Given the description of an element on the screen output the (x, y) to click on. 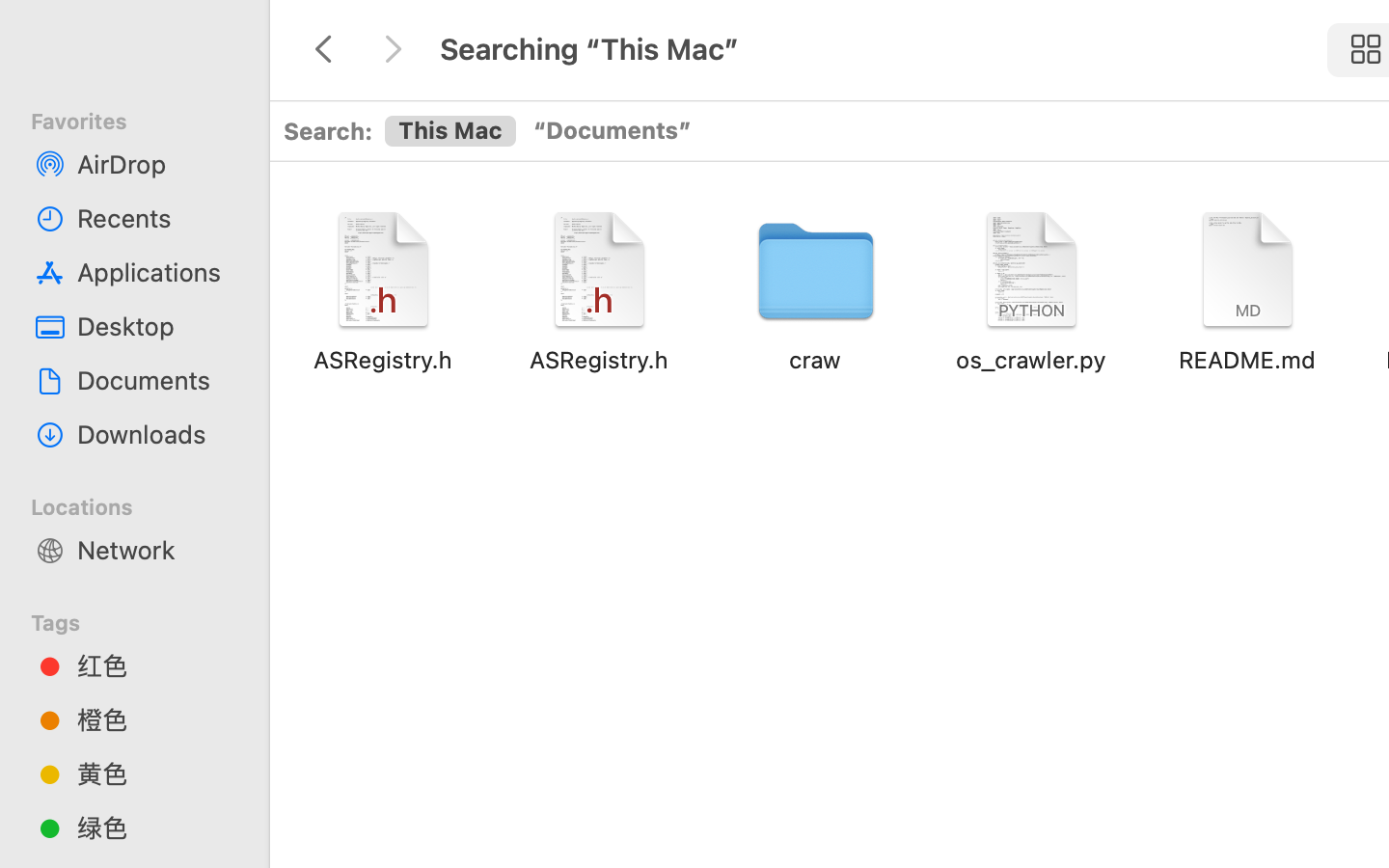
Desktop Element type: AXStaticText (155, 325)
Locations Element type: AXStaticText (145, 504)
Downloads Element type: AXStaticText (155, 433)
